Given the description of an element on the screen output the (x, y) to click on. 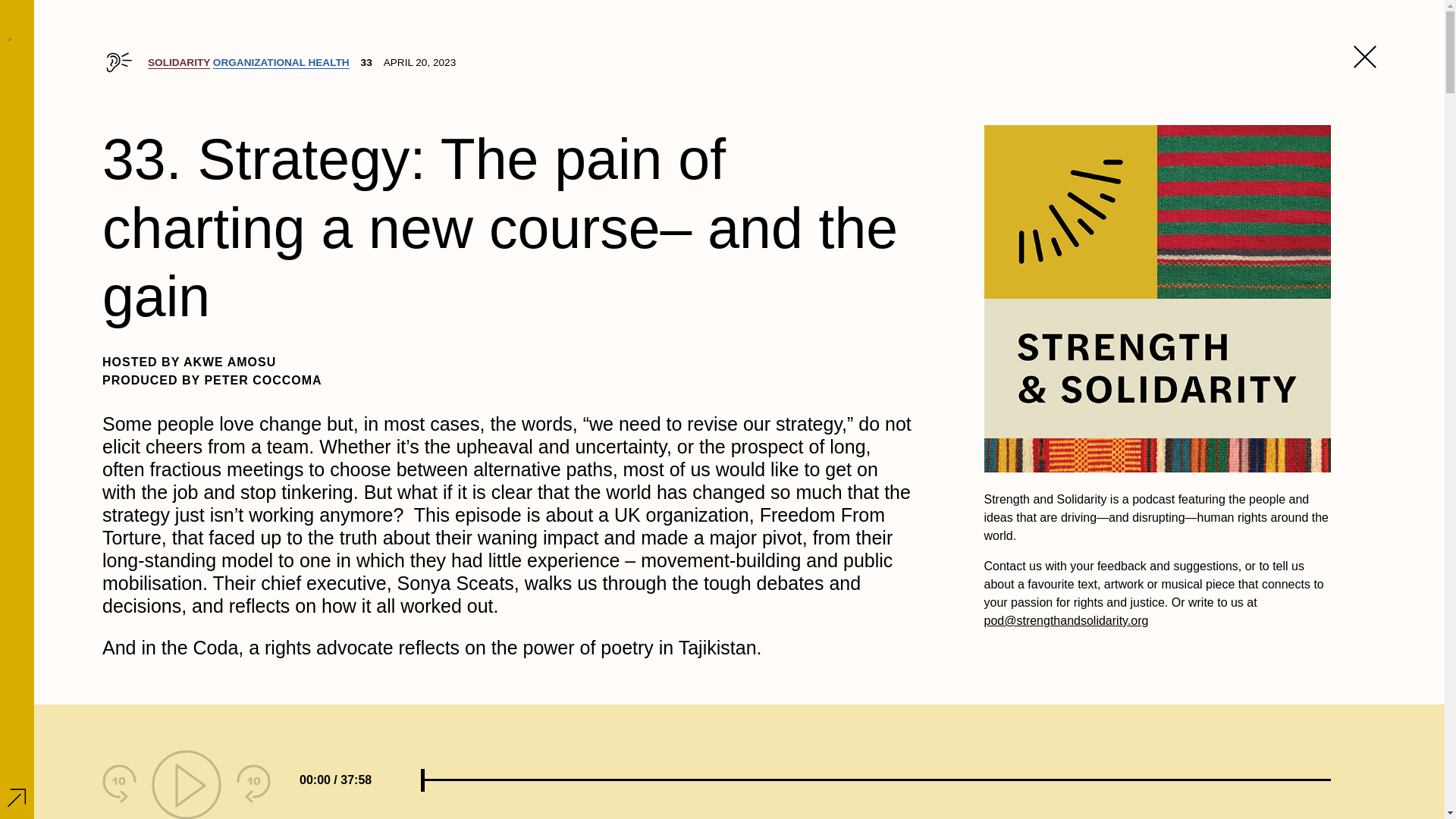
ORGANIZATIONAL HEALTH (280, 61)
SOLIDARITY (178, 61)
